Given the description of an element on the screen output the (x, y) to click on. 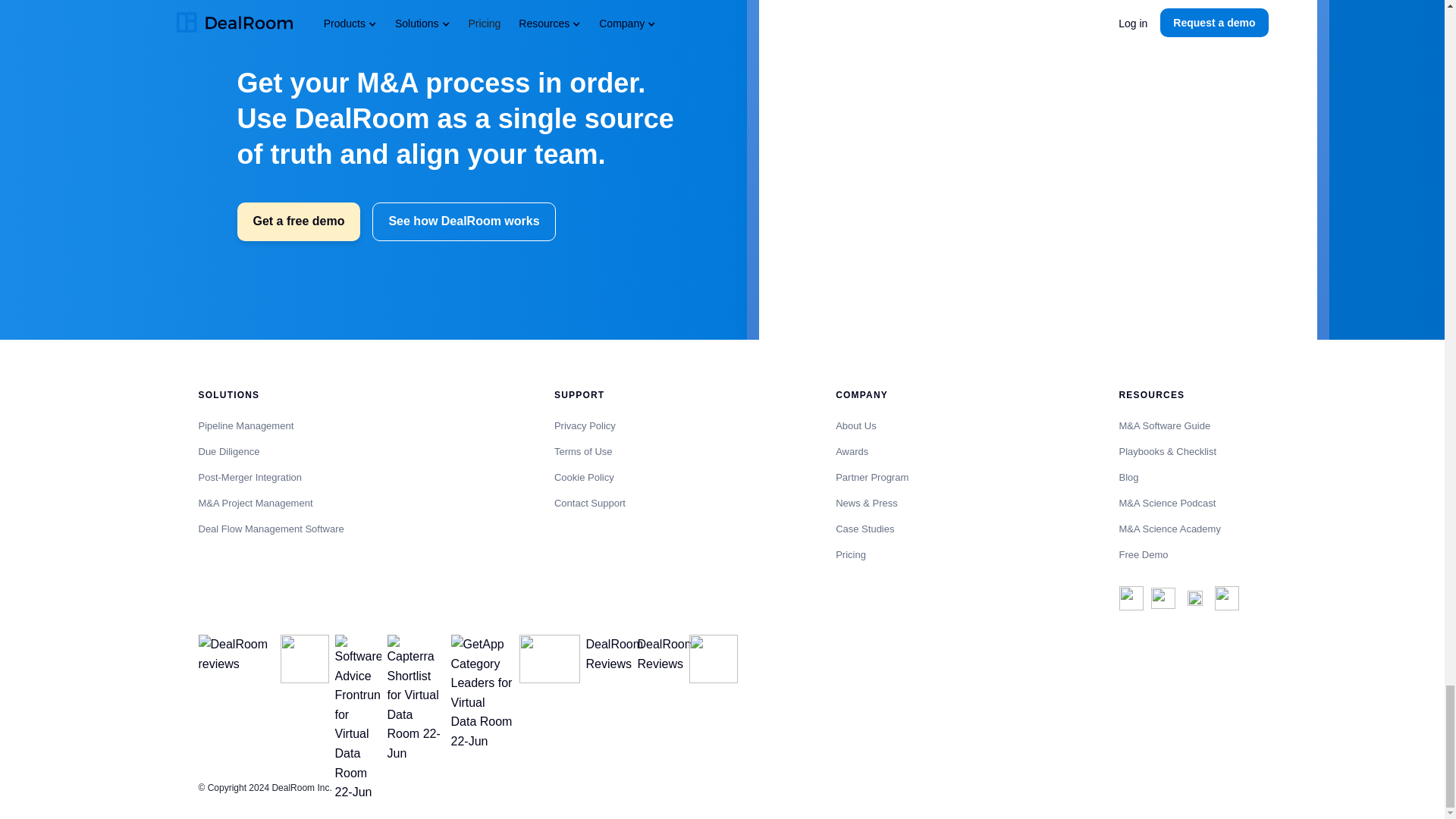
DealRoom - software ratings and reviews on Crozdesk (236, 653)
